Given the description of an element on the screen output the (x, y) to click on. 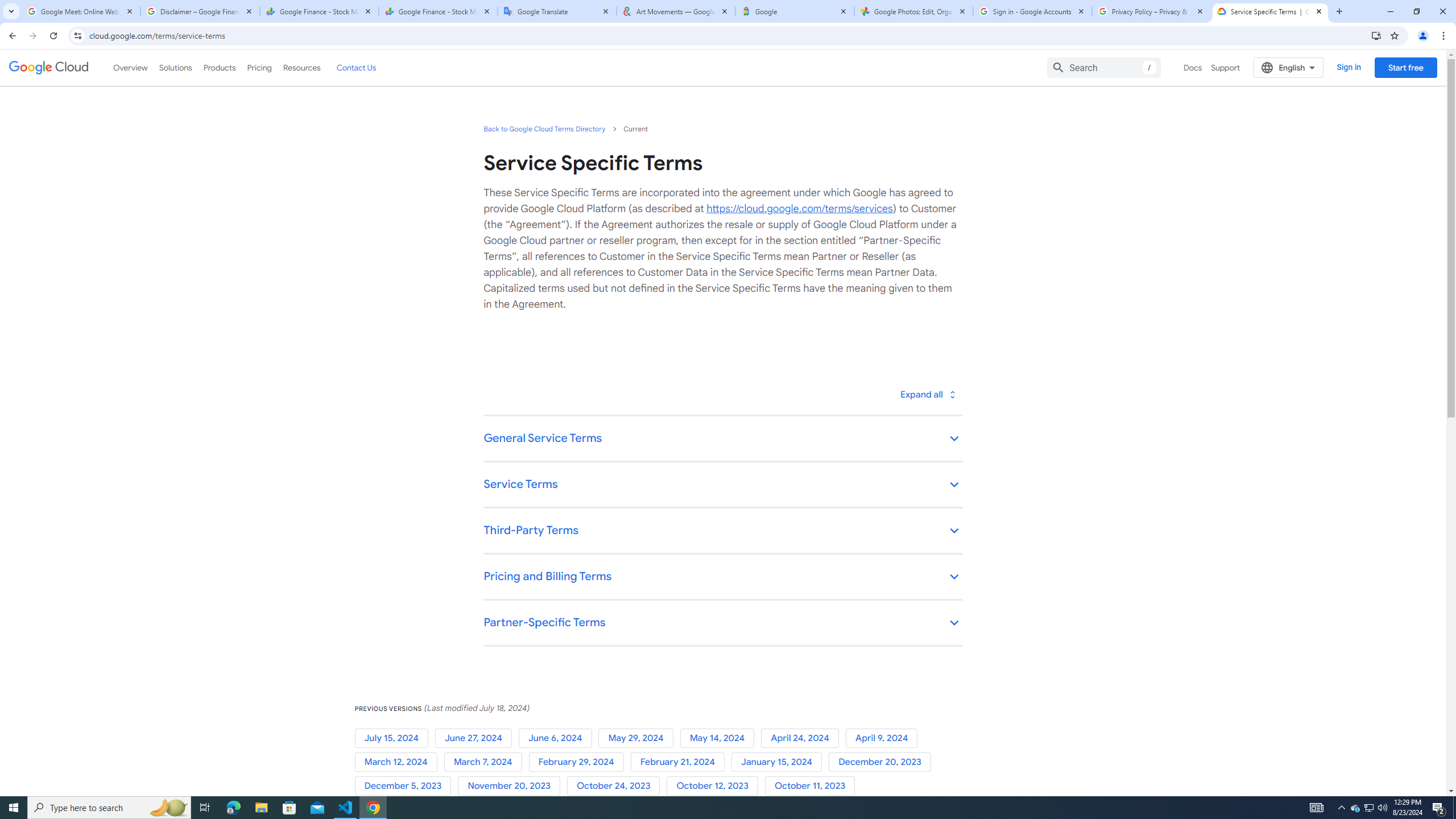
Minimize (1390, 11)
May 14, 2024 (720, 737)
March 7, 2024 (486, 761)
April 24, 2024 (803, 737)
Forward (32, 35)
Install Google Cloud (1376, 35)
July 15, 2024 (394, 737)
Restore (1416, 11)
Sign in - Google Accounts (1032, 11)
Third-Party Terms keyboard_arrow_down (722, 531)
Close (1318, 11)
May 29, 2024 (638, 737)
You (1422, 35)
